Given the description of an element on the screen output the (x, y) to click on. 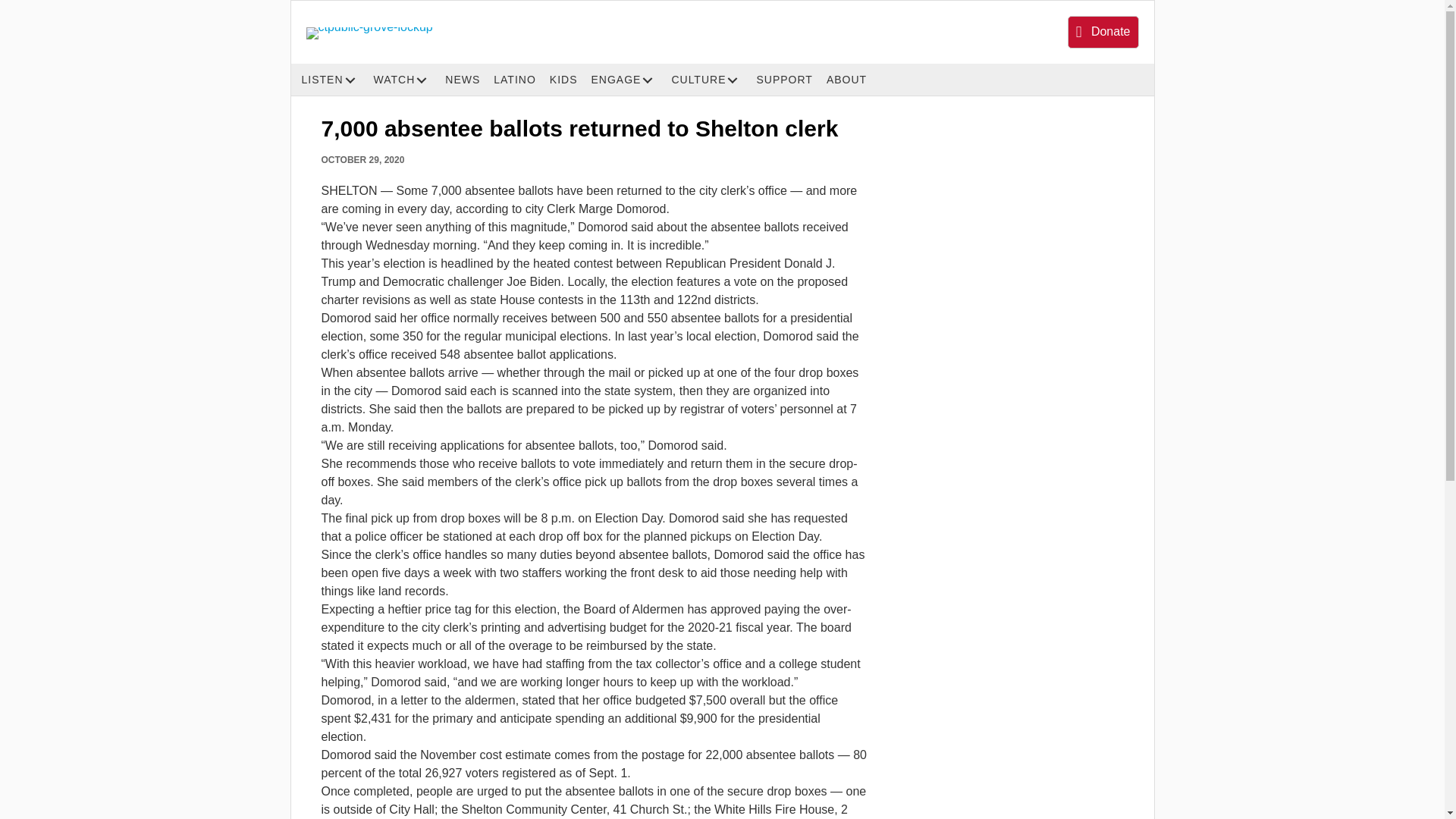
ctpublic-grove-lockup (368, 33)
KIDS (566, 79)
ENGAGE (627, 79)
ABOUT (849, 79)
NEWS (465, 79)
SUPPORT (786, 79)
CULTURE (709, 79)
Donate (1102, 31)
LATINO (517, 79)
LISTEN (333, 79)
